Given the description of an element on the screen output the (x, y) to click on. 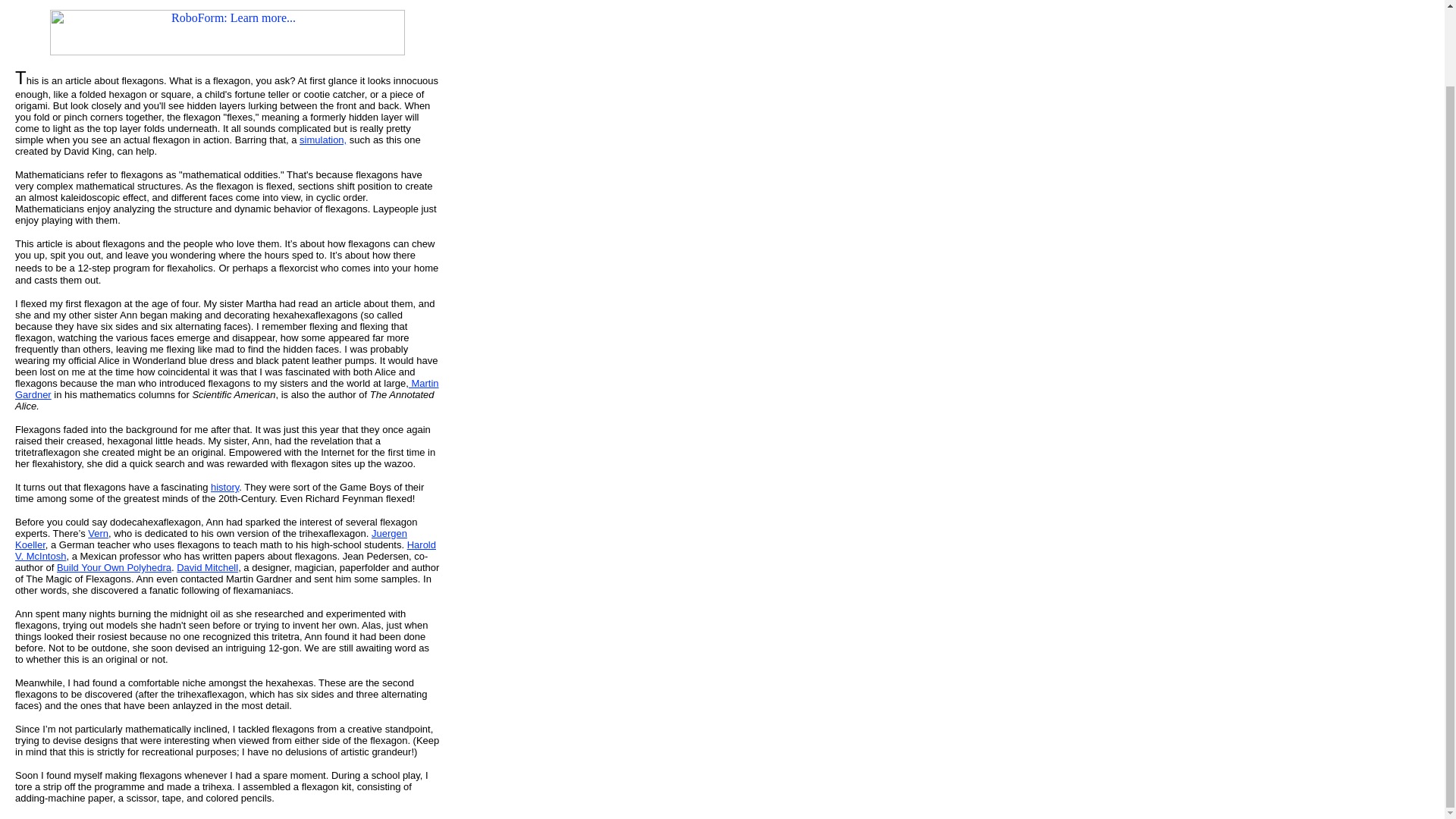
Build Your Own Polyhedra (113, 567)
David Mitchell (207, 567)
Juergen Koeller (210, 538)
history (224, 487)
Harold V. McIntosh (224, 549)
simulation, (322, 139)
Vern (97, 532)
Martin Gardner (226, 388)
